Given the description of an element on the screen output the (x, y) to click on. 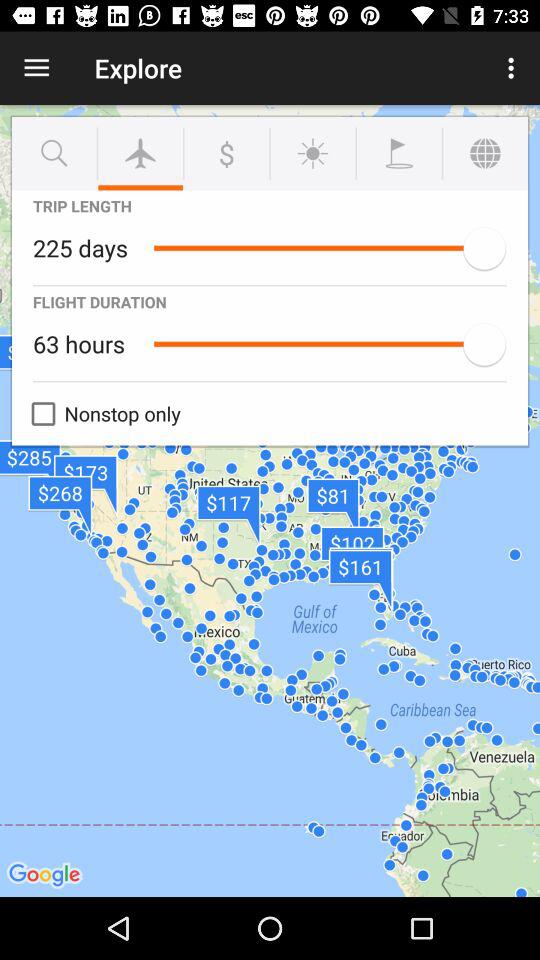
select icon to the right of explore item (513, 67)
